Given the description of an element on the screen output the (x, y) to click on. 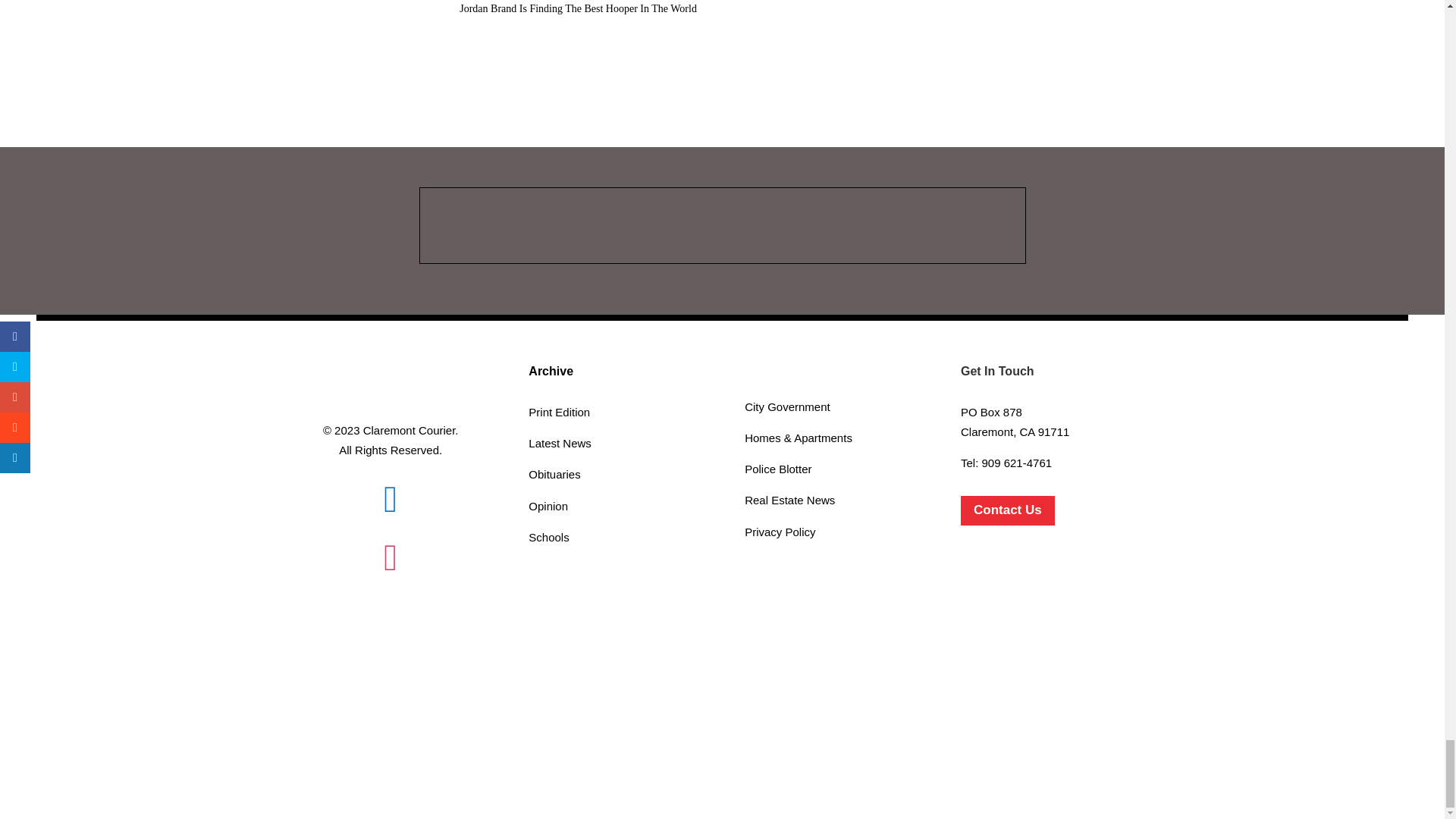
Claremont Courier logo (390, 380)
